Given the description of an element on the screen output the (x, y) to click on. 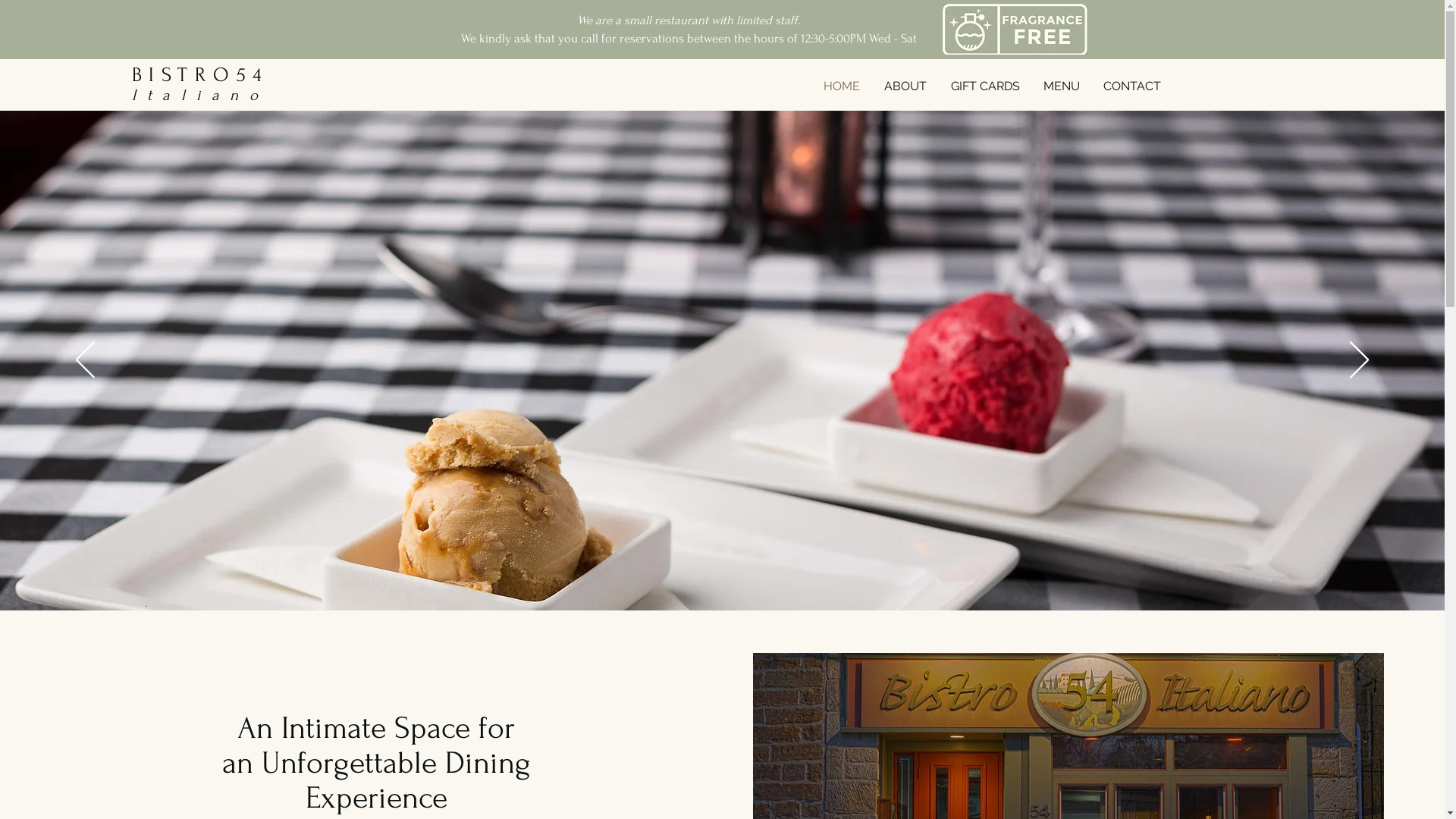
ABOUT Element type: text (904, 86)
CONTACT Element type: text (1131, 86)
Italiano Element type: text (200, 94)
BISTRO54 Element type: text (199, 74)
GIFT CARDS Element type: text (984, 86)
HOME Element type: text (840, 86)
